Given the description of an element on the screen output the (x, y) to click on. 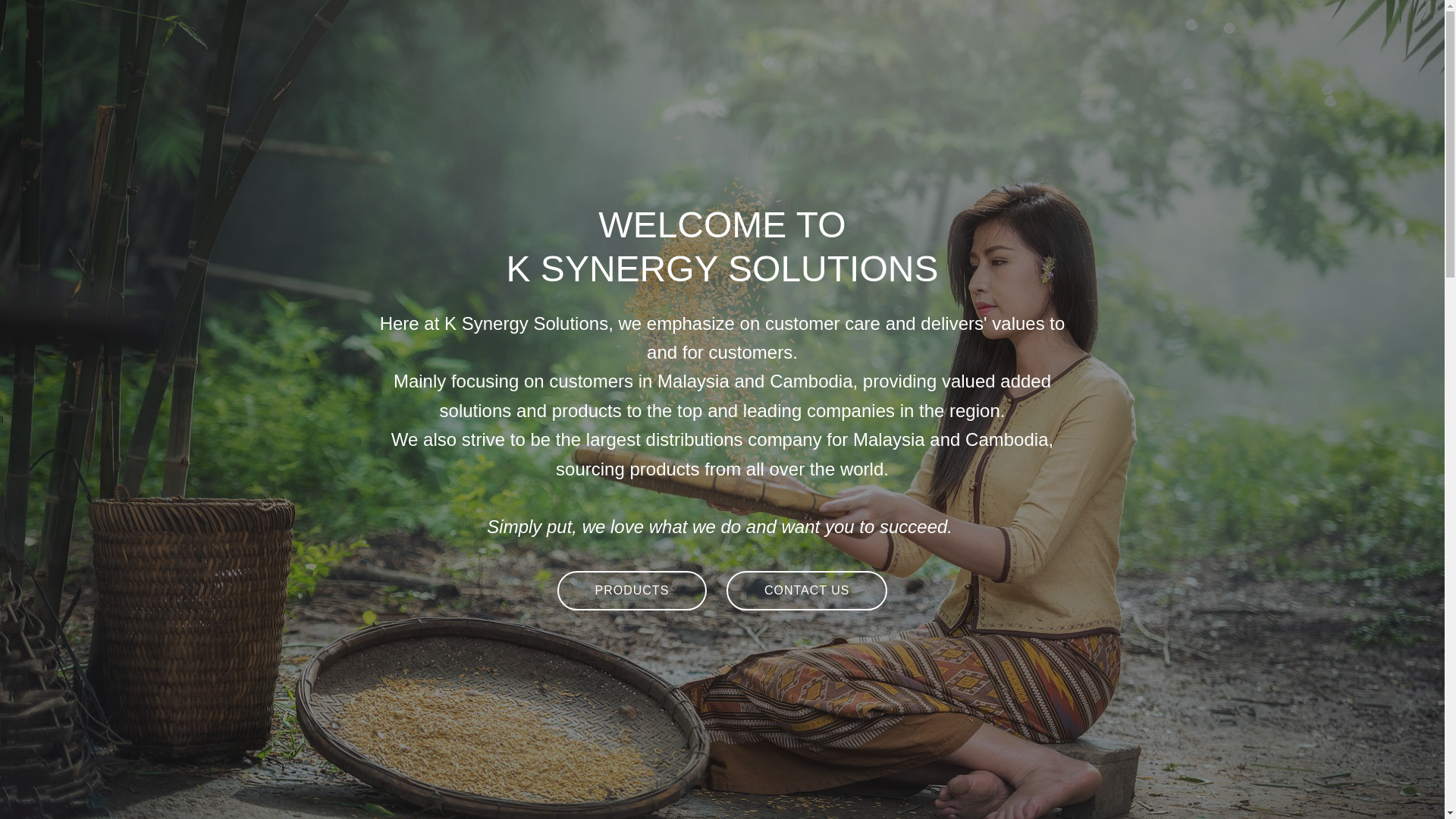
PRODUCTS (632, 590)
CONTACT US (807, 590)
